Given the description of an element on the screen output the (x, y) to click on. 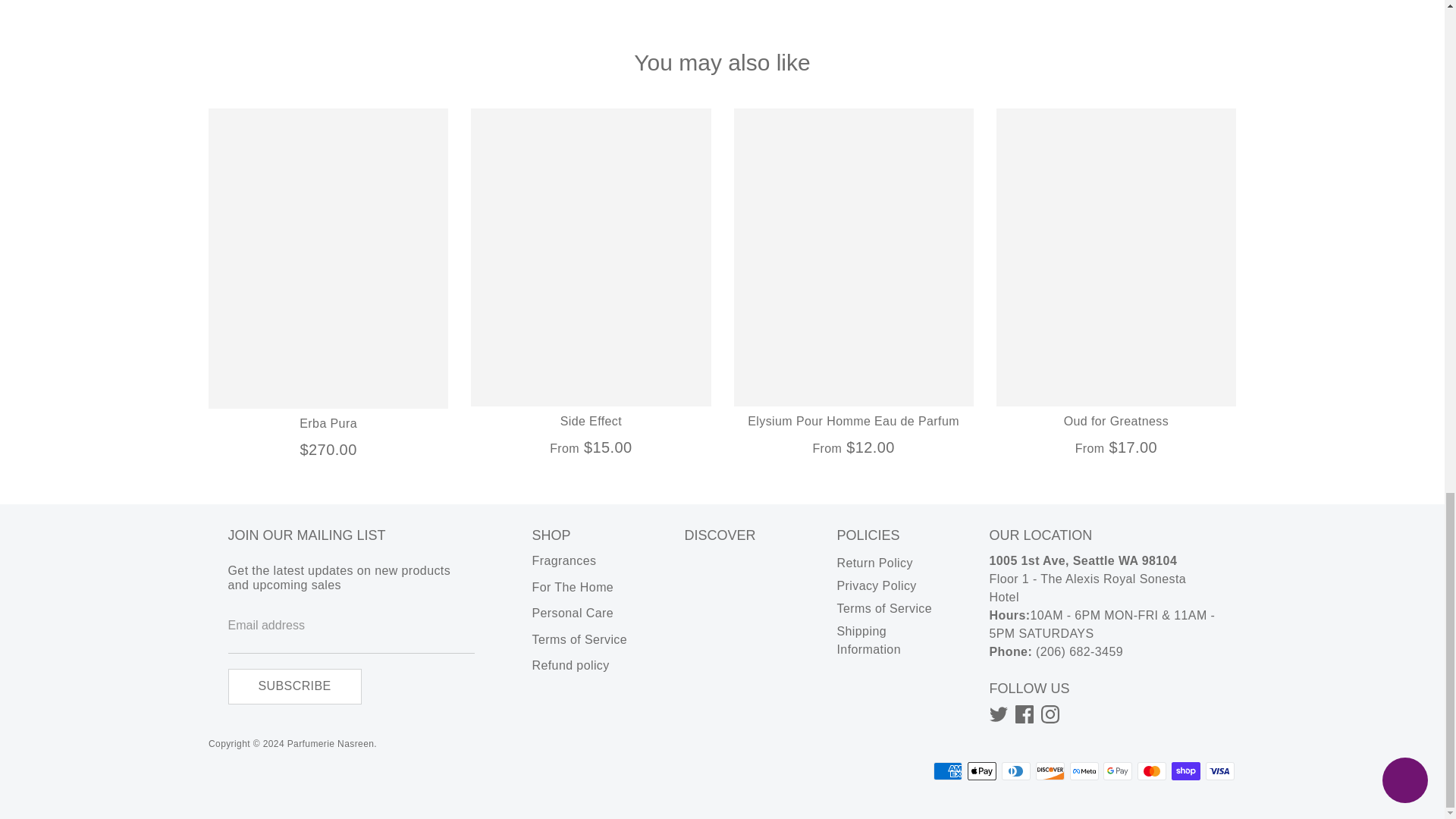
Shop Pay (1185, 771)
Apple Pay (981, 771)
Google Pay (1117, 771)
Mastercard (1151, 771)
Diners Club (1015, 771)
Visa (1219, 771)
Discover (1049, 771)
American Express (947, 771)
Meta Pay (1084, 771)
